Given the description of an element on the screen output the (x, y) to click on. 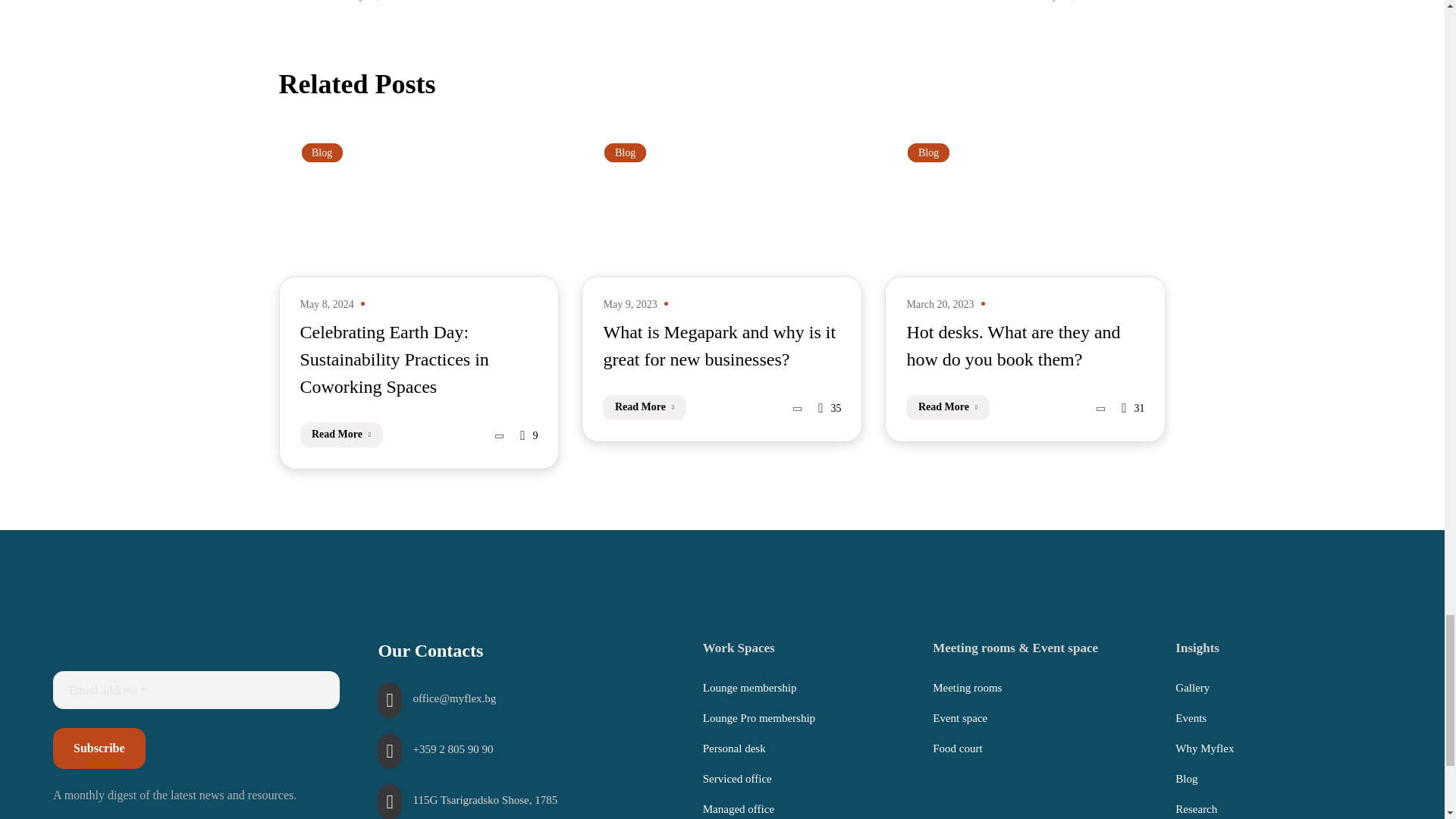
Like (829, 407)
Subscribe (98, 748)
Like (1132, 407)
Like (528, 434)
